Given the description of an element on the screen output the (x, y) to click on. 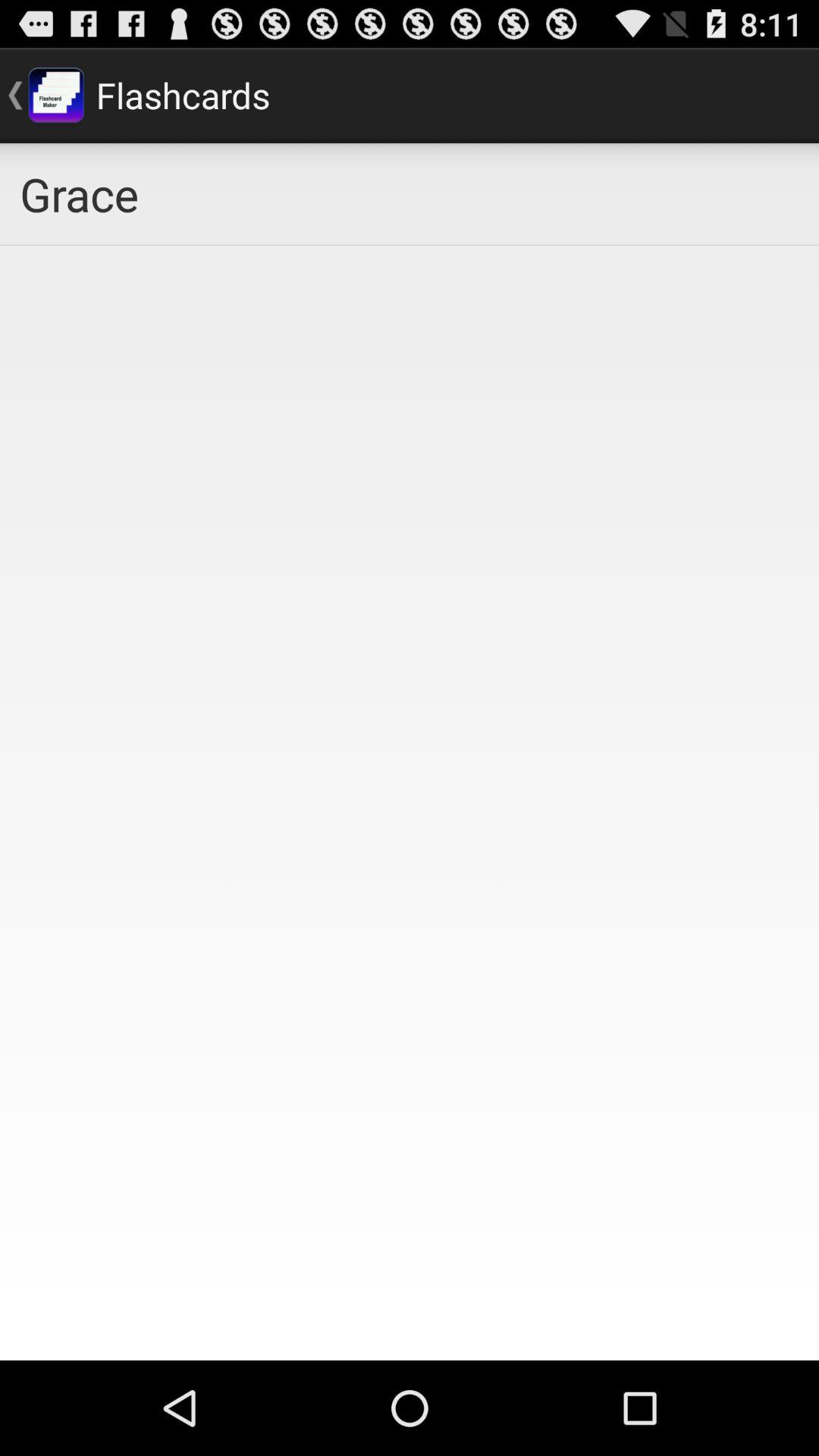
turn off icon at the top (409, 193)
